Given the description of an element on the screen output the (x, y) to click on. 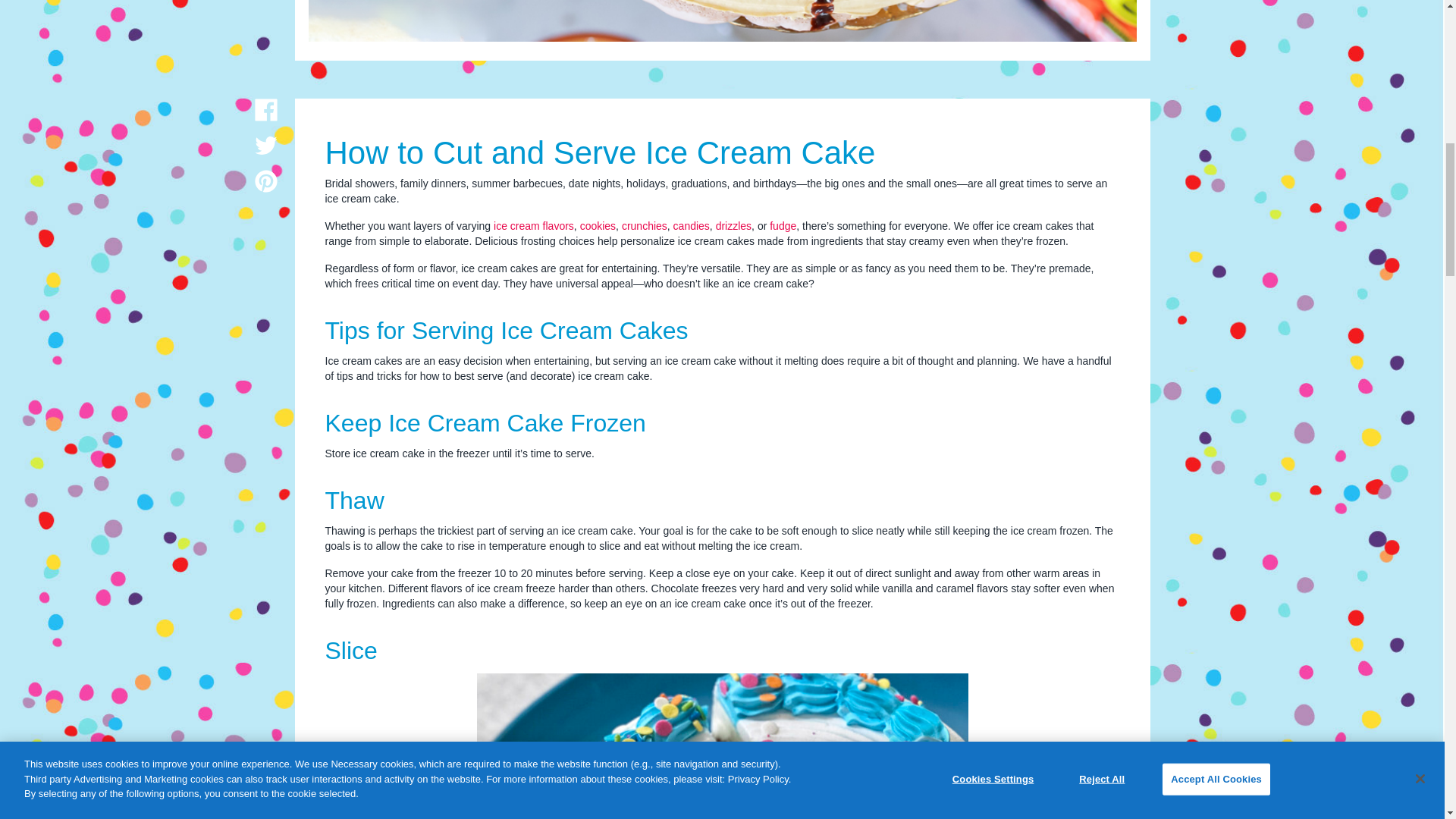
ice cream flavors (533, 225)
Facebook (266, 109)
candies (691, 225)
Pinterest (266, 180)
Twitter (266, 145)
drizzles (733, 225)
fudge (783, 225)
cookies (597, 225)
crunchies (643, 225)
